Given the description of an element on the screen output the (x, y) to click on. 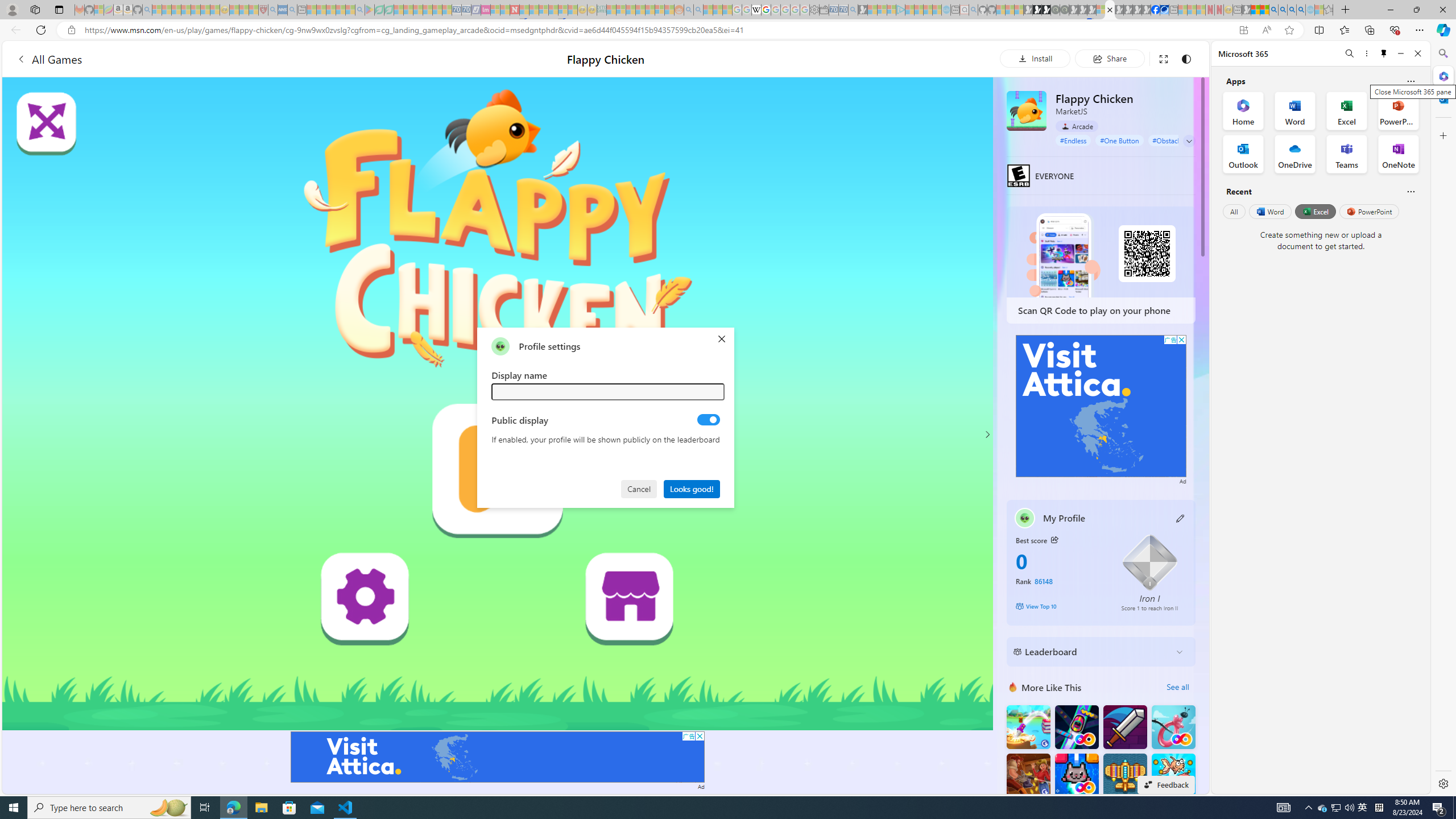
AirNow.gov (1163, 9)
Google Chrome Internet Browser Download - Search Images (1300, 9)
Is this helpful? (1410, 191)
Change to dark mode (1185, 58)
AutomationID: cbb (1181, 339)
